Given the description of an element on the screen output the (x, y) to click on. 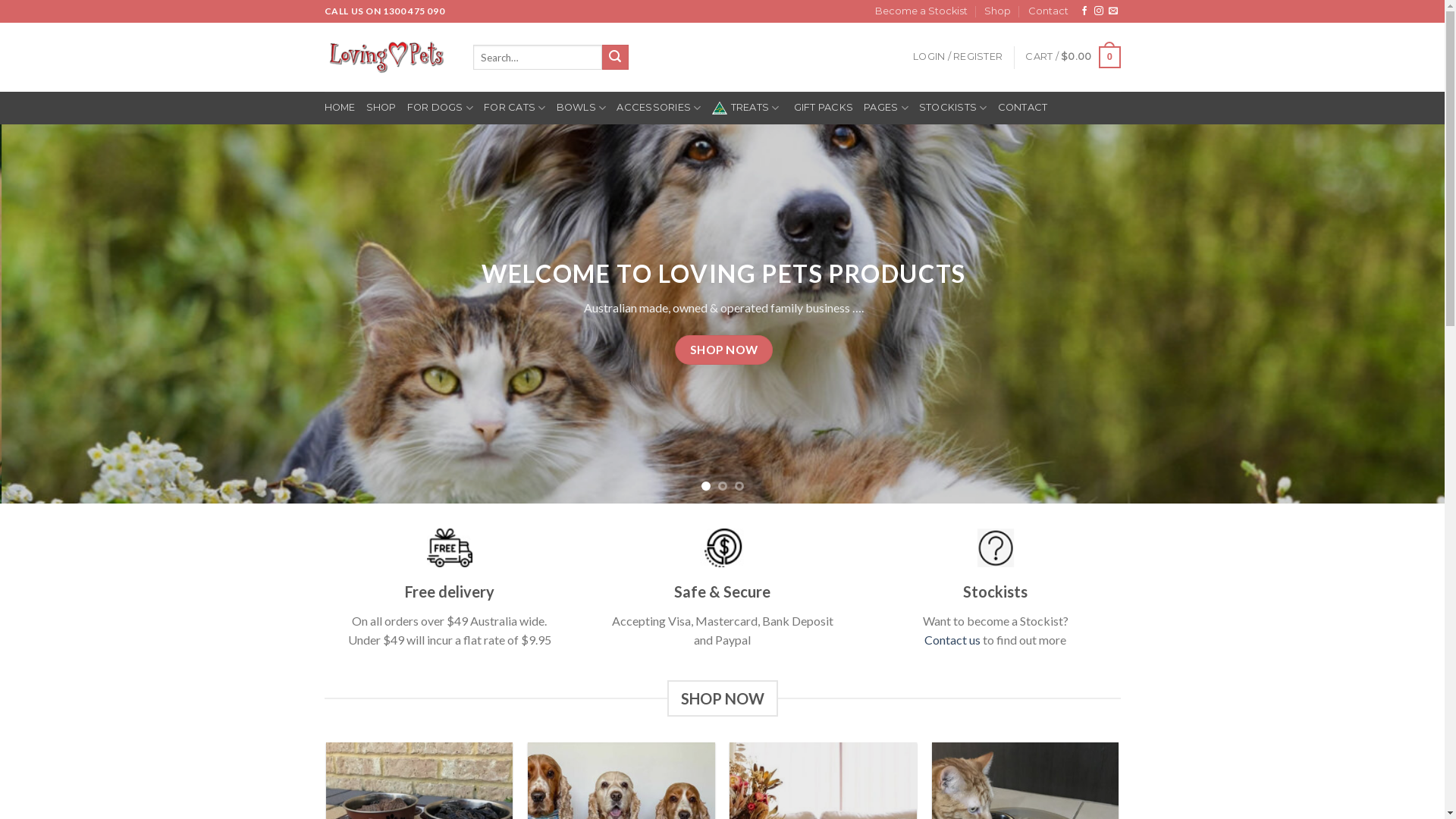
Search Element type: text (614, 57)
Become a Stockist Element type: text (921, 11)
CONTACT Element type: text (1022, 107)
ACCESSORIES Element type: text (658, 107)
GIFT PACKS Element type: text (823, 107)
Shop Element type: text (997, 11)
TREATS Element type: text (747, 107)
SHOP NOW Element type: text (763, 361)
PAGES Element type: text (885, 107)
BOWLS Element type: text (581, 107)
Follow on Instagram Element type: hover (1098, 11)
STOCKISTS Element type: text (953, 107)
CART / $0.00
0 Element type: text (1072, 57)
LOGIN / REGISTER Element type: text (957, 56)
Send us an email Element type: hover (1112, 11)
Loving Pet Products - Pet Products Australia Element type: hover (387, 56)
SHOP Element type: text (381, 107)
FOR CATS Element type: text (514, 107)
Contact us Element type: text (952, 639)
HOME Element type: text (339, 107)
Contact Element type: text (1048, 11)
Follow on Facebook Element type: hover (1083, 11)
FOR DOGS Element type: text (440, 107)
